Given the description of an element on the screen output the (x, y) to click on. 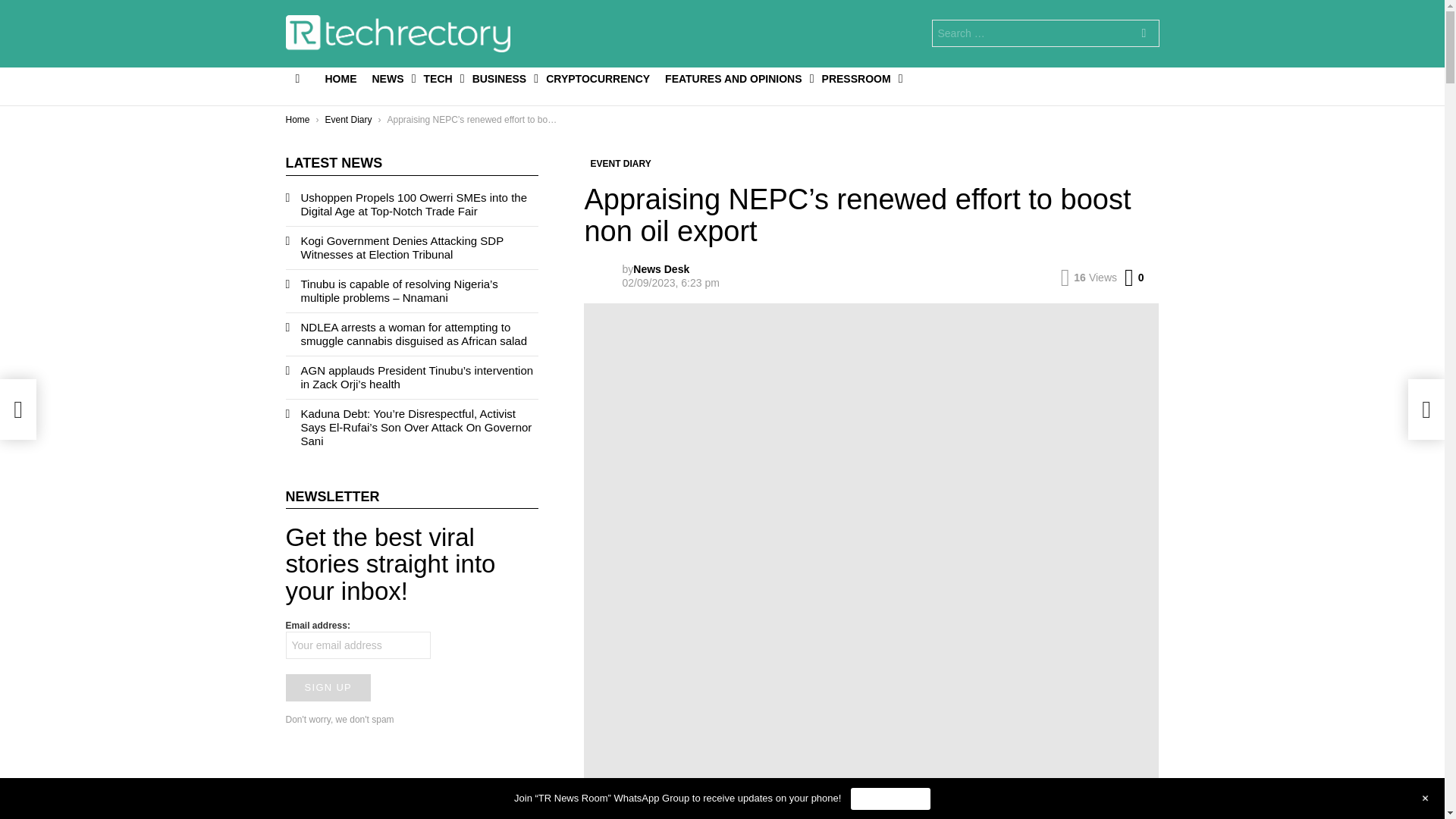
Sign up (328, 687)
Search for: (1044, 32)
CRYPTOCURRENCY (598, 78)
PRESSROOM (857, 78)
NEWS (389, 78)
HOME (340, 78)
TECH (439, 78)
BUSINESS (501, 78)
Menu (296, 78)
Home (296, 119)
